Given the description of an element on the screen output the (x, y) to click on. 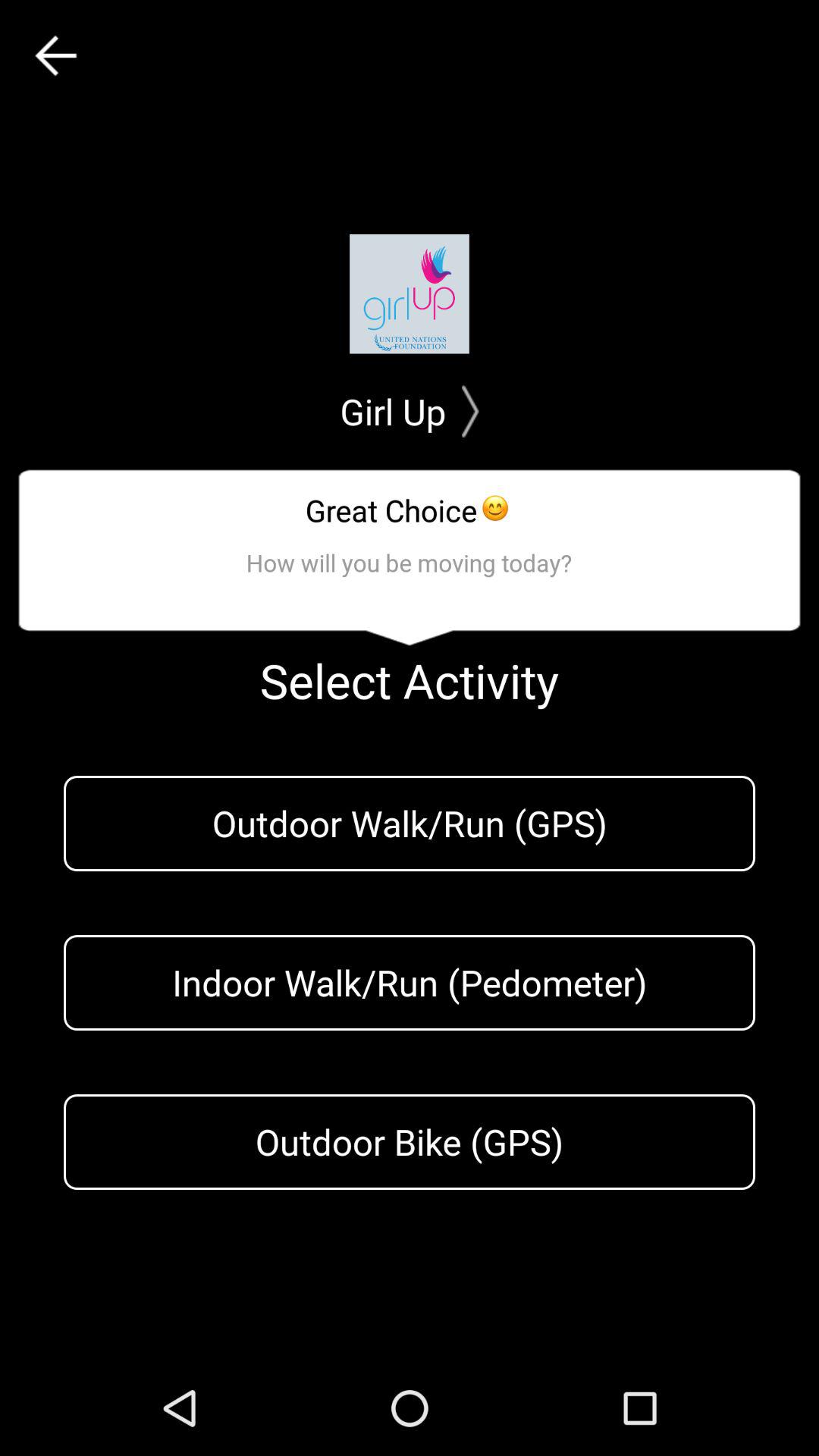
turn on the item above the great choice icon (409, 411)
